Given the description of an element on the screen output the (x, y) to click on. 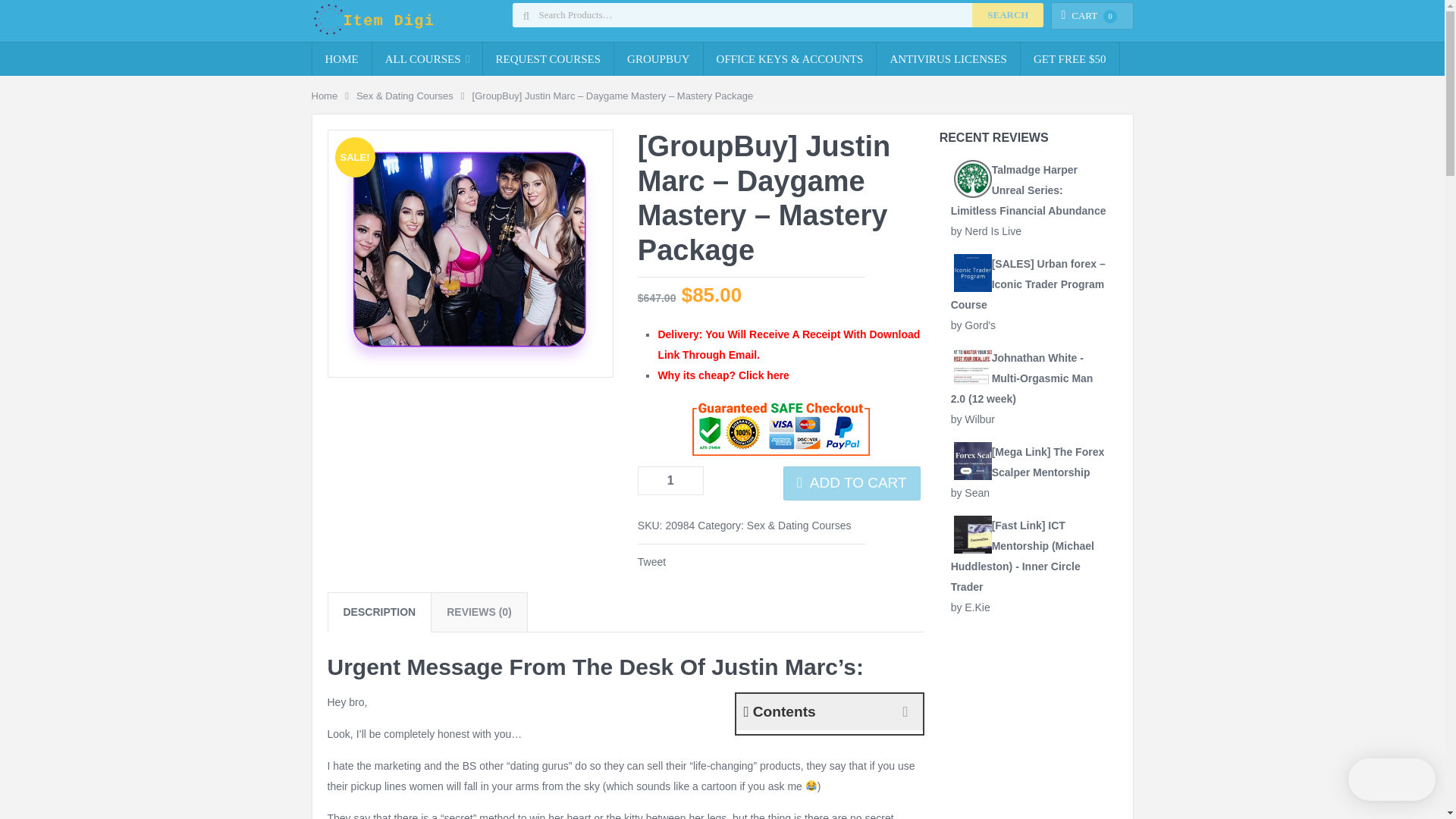
Tweet (651, 562)
HOME (342, 59)
ANTIVIRUS LICENSES (948, 59)
GROUPBUY (658, 59)
Search for: (777, 15)
Home (324, 95)
SEARCH (1007, 15)
Qty (670, 480)
Smartsupp widget button (1391, 779)
DESCRIPTION (378, 611)
ADD TO CART (851, 483)
CART0 (1089, 15)
ALL COURSES (426, 59)
here (778, 375)
justin-marc-daygame-mastery-mastery-package (470, 253)
